Given the description of an element on the screen output the (x, y) to click on. 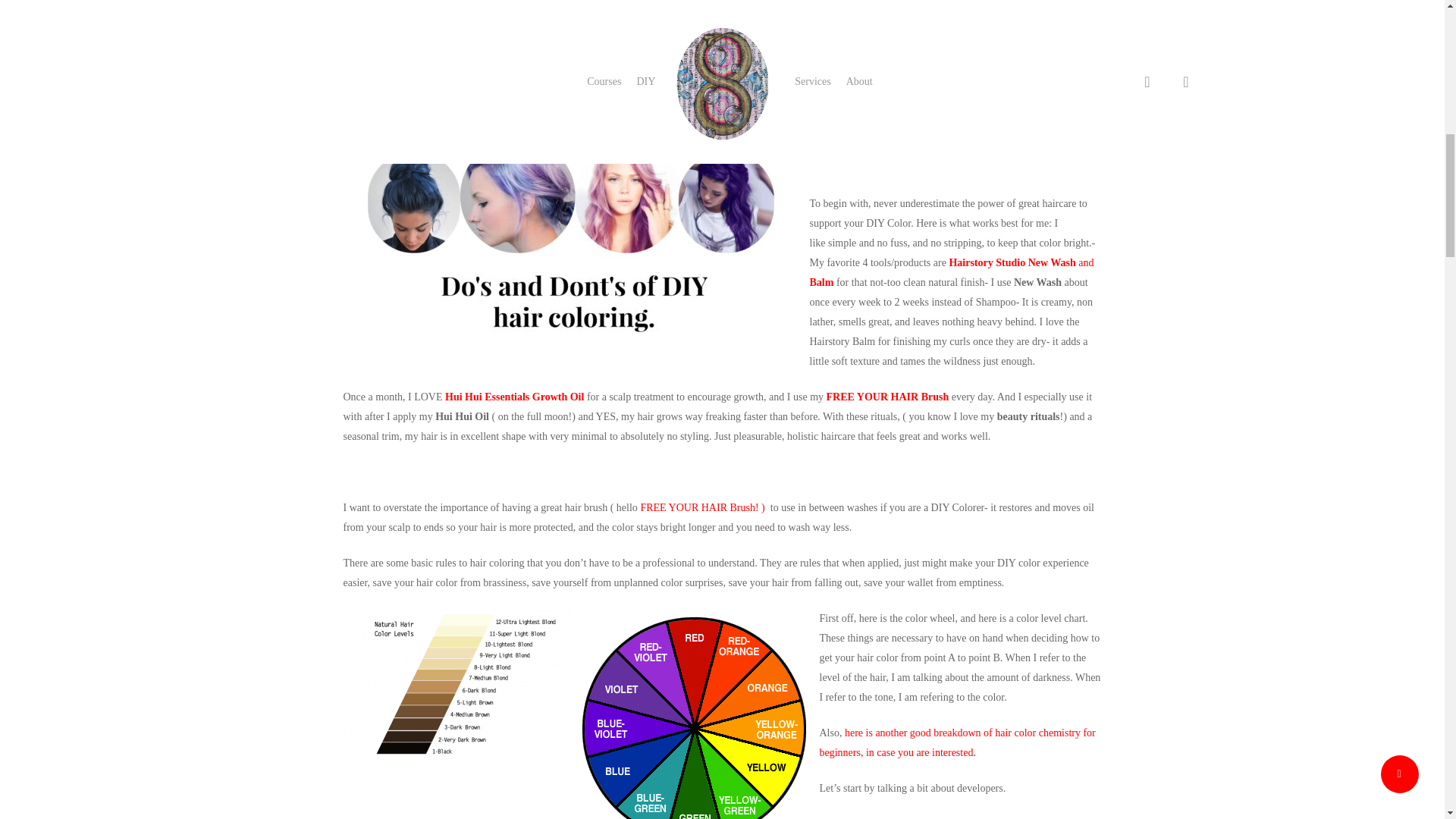
FREE YOUR HAIR Brush (889, 396)
Hairstory Studio New Wash and Balm (951, 272)
Hui Hui Essentials Growth Oil (515, 396)
